Given the description of an element on the screen output the (x, y) to click on. 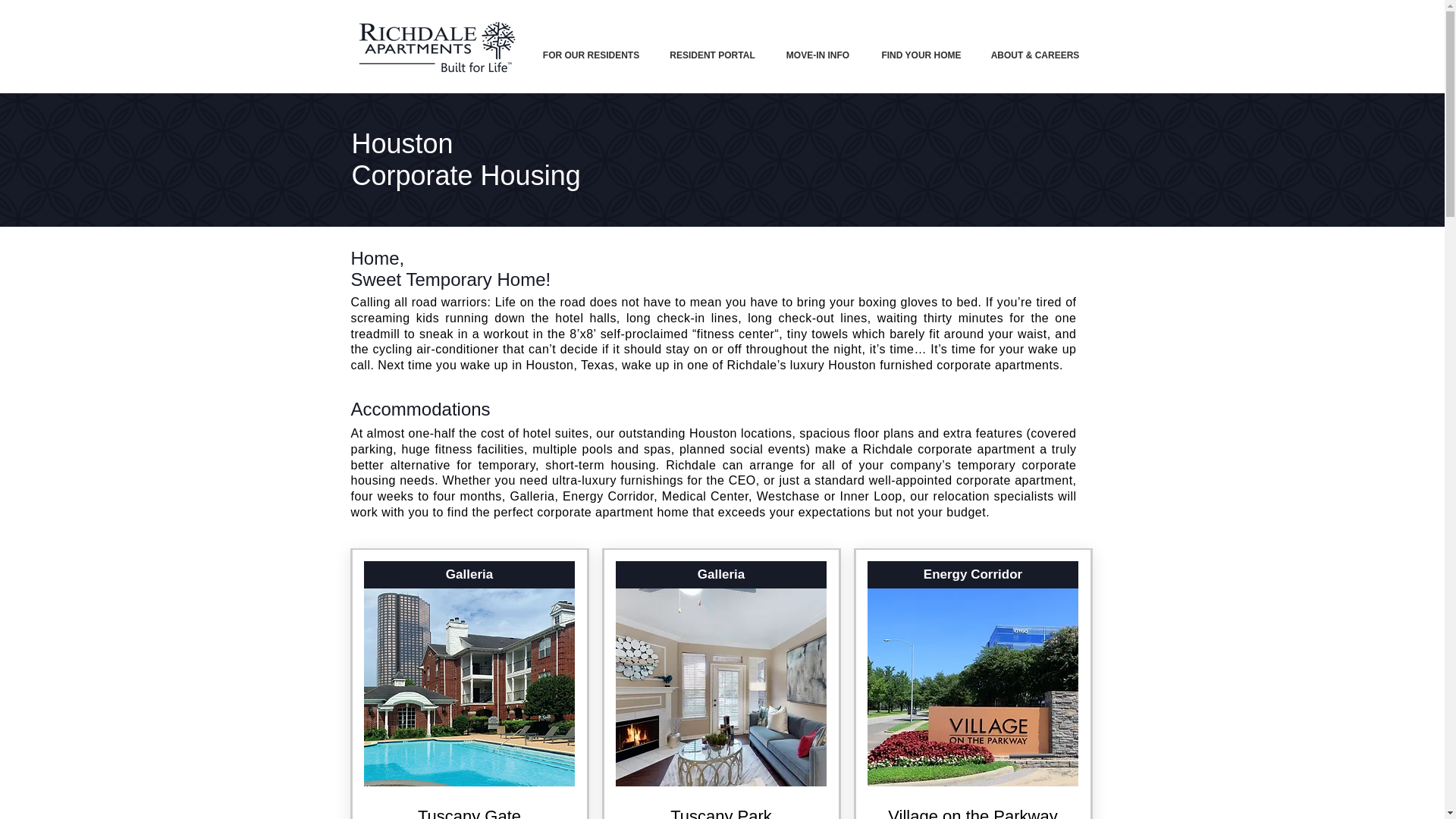
RESIDENT PORTAL (712, 54)
FIND YOUR HOME (921, 54)
MOVE-IN INFO (818, 54)
VLG.jpg (972, 687)
TGT.png (469, 687)
